Given the description of an element on the screen output the (x, y) to click on. 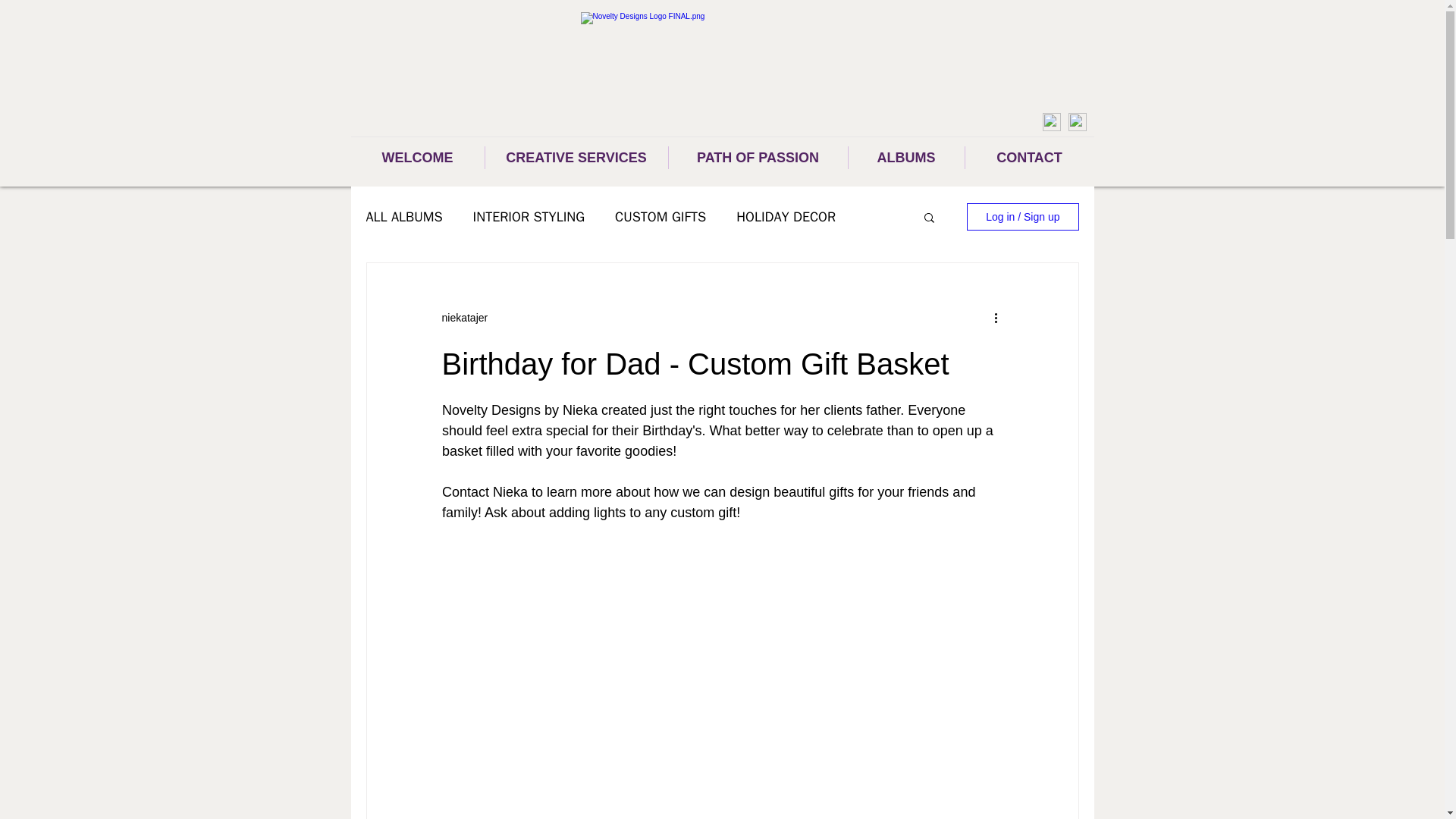
WELCOME (416, 157)
niekatajer (464, 317)
PATH OF PASSION (757, 157)
CREATIVE SERVICES (576, 157)
ALBUMS (905, 157)
HOLIDAY DECOR (785, 217)
ALL ALBUMS (403, 217)
INTERIOR STYLING (529, 217)
CONTACT (1028, 157)
CUSTOM GIFTS (660, 217)
